Given the description of an element on the screen output the (x, y) to click on. 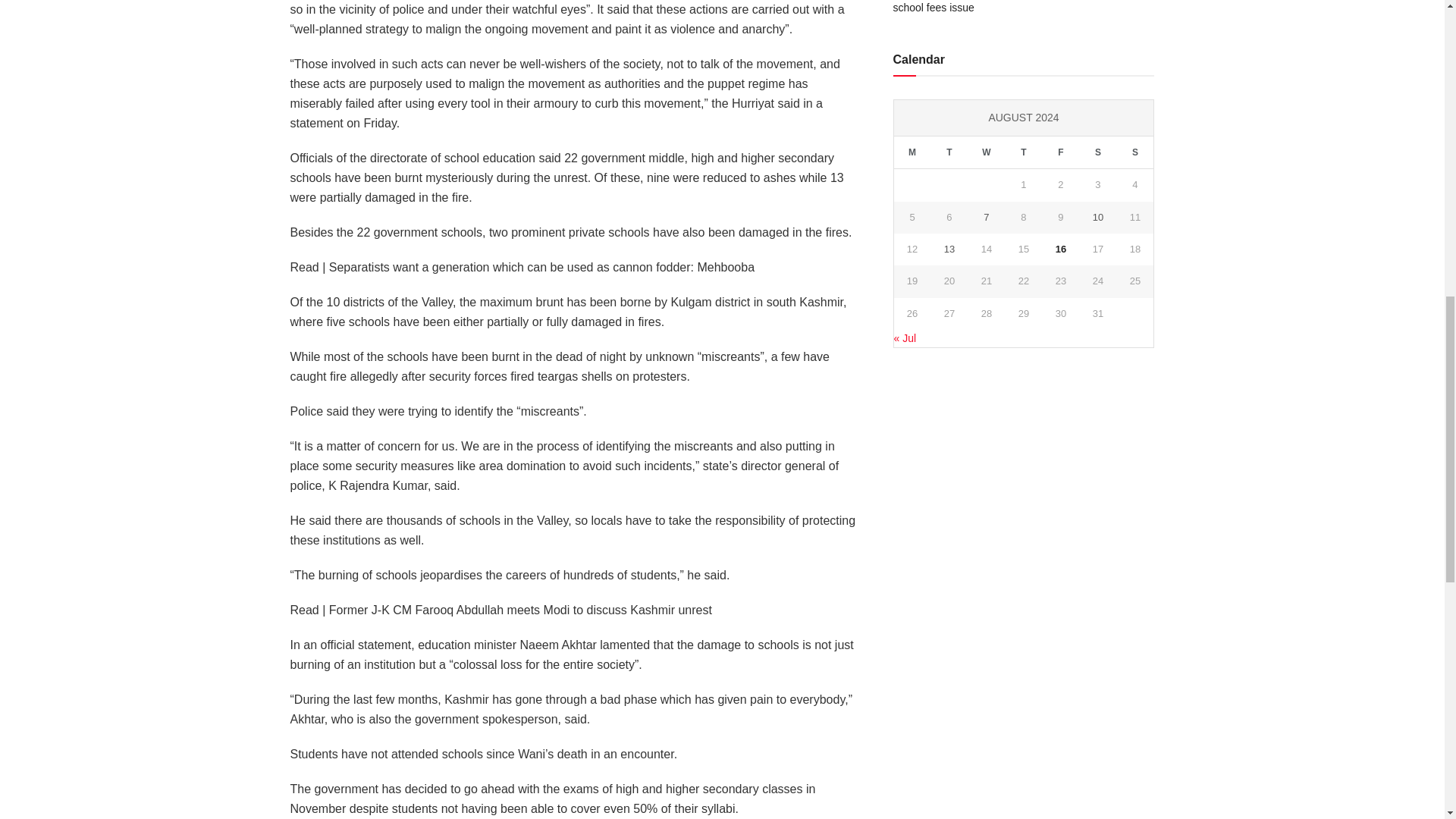
Sunday (1134, 152)
Friday (1060, 152)
Thursday (1023, 152)
Tuesday (949, 152)
Monday (911, 152)
Wednesday (986, 152)
Saturday (1097, 152)
